Given the description of an element on the screen output the (x, y) to click on. 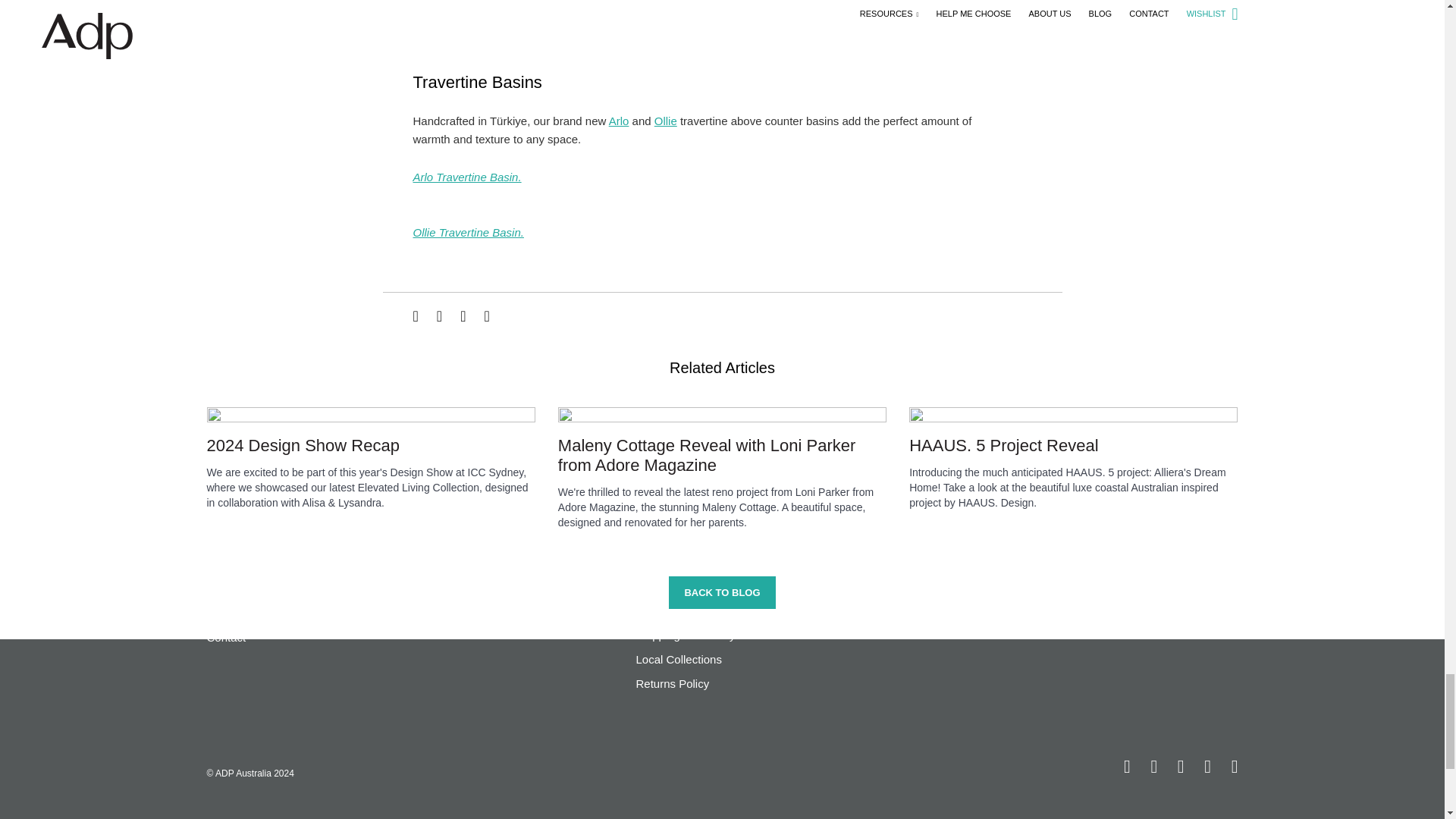
Ollie (665, 120)
Arlo (466, 176)
Arlo (618, 120)
Ella (459, 24)
